Given the description of an element on the screen output the (x, y) to click on. 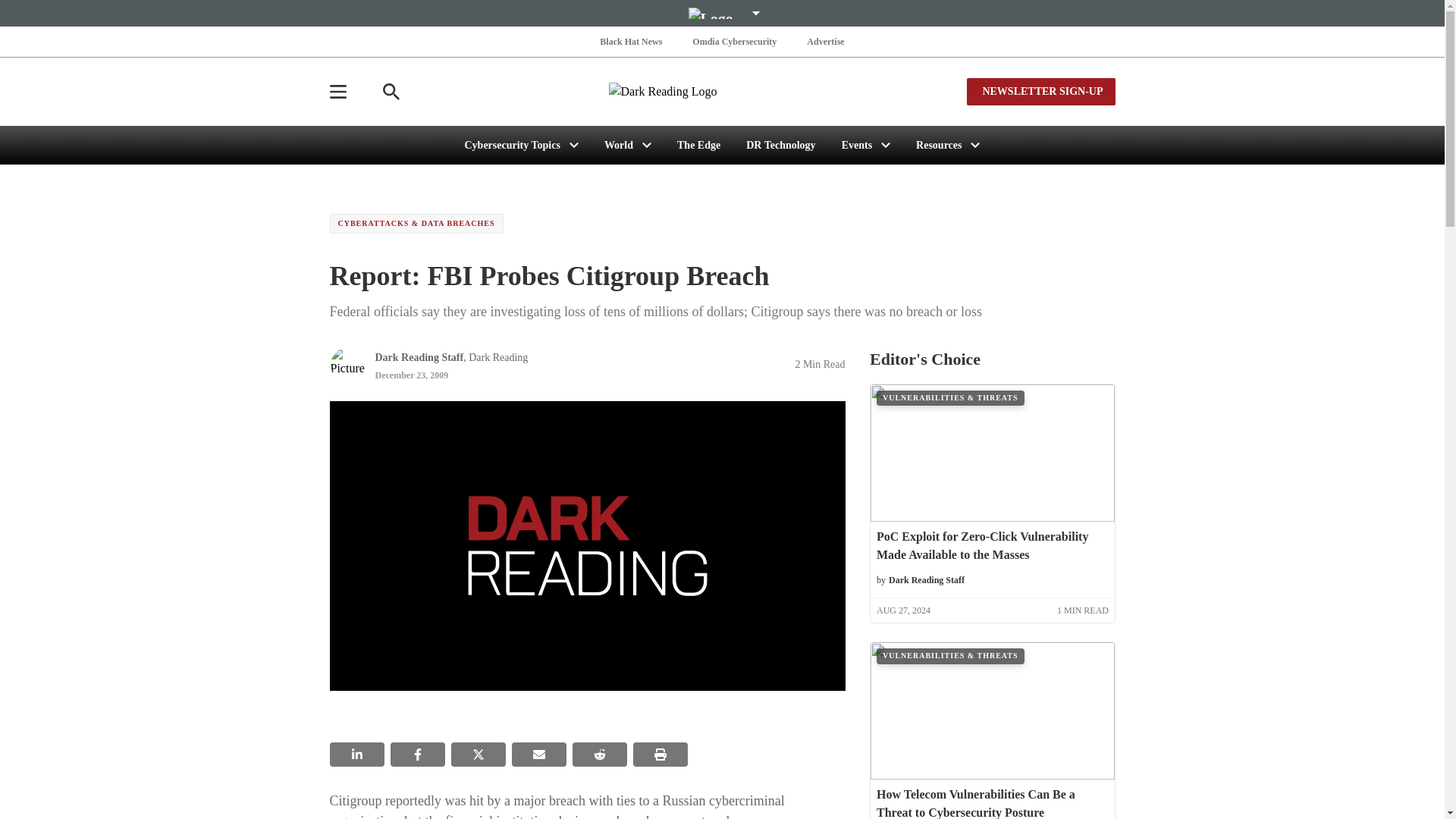
Dark Reading Logo (721, 91)
Advertise (825, 41)
Omdia Cybersecurity (733, 41)
Picture of Dark Reading Staff (347, 364)
NEWSLETTER SIGN-UP (1040, 90)
Black Hat News (630, 41)
